Given the description of an element on the screen output the (x, y) to click on. 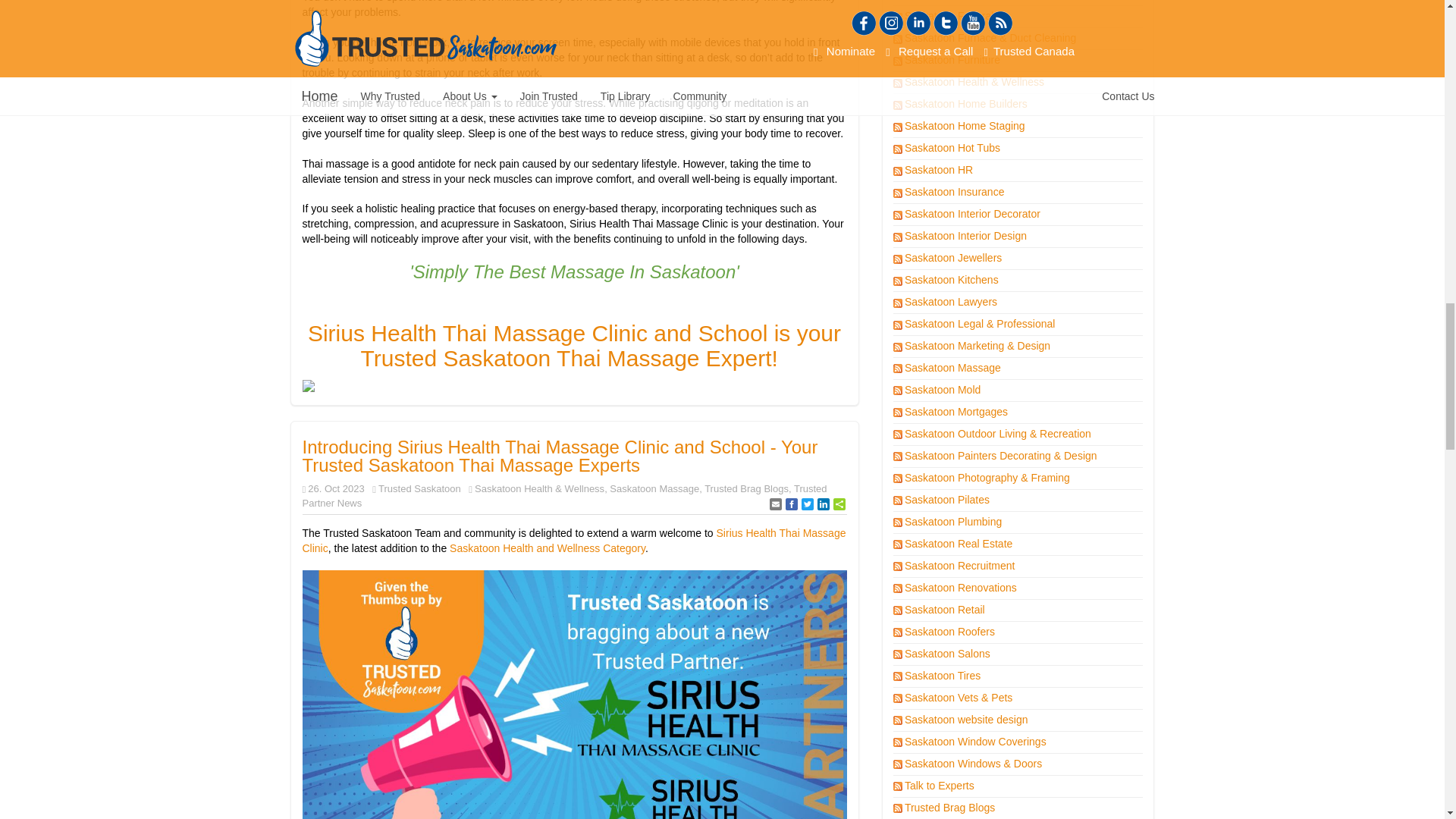
Trusted Partner News (564, 495)
Trusted Saskatoon (419, 488)
Saskatoon Massage (654, 488)
Saskatoon Health and Wellness Category (547, 548)
Sirius Health Thai Massage Clinic (573, 540)
Trusted Brag Blogs (746, 488)
